Given the description of an element on the screen output the (x, y) to click on. 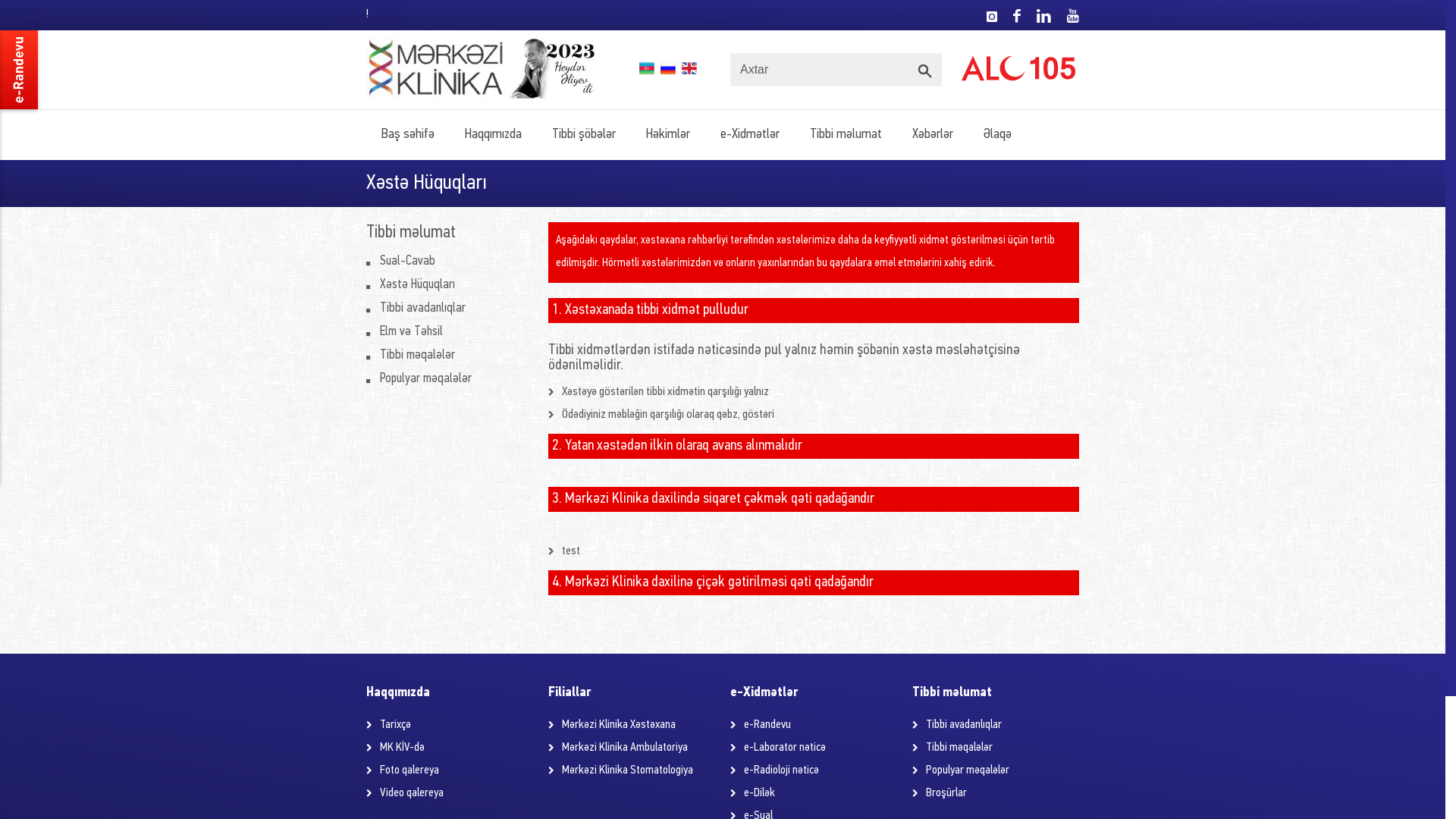
Sual-Cavab Element type: text (407, 260)
Video qalereya Element type: text (411, 793)
e-Randevu Element type: text (766, 724)
Foto qalereya Element type: text (409, 770)
